Given the description of an element on the screen output the (x, y) to click on. 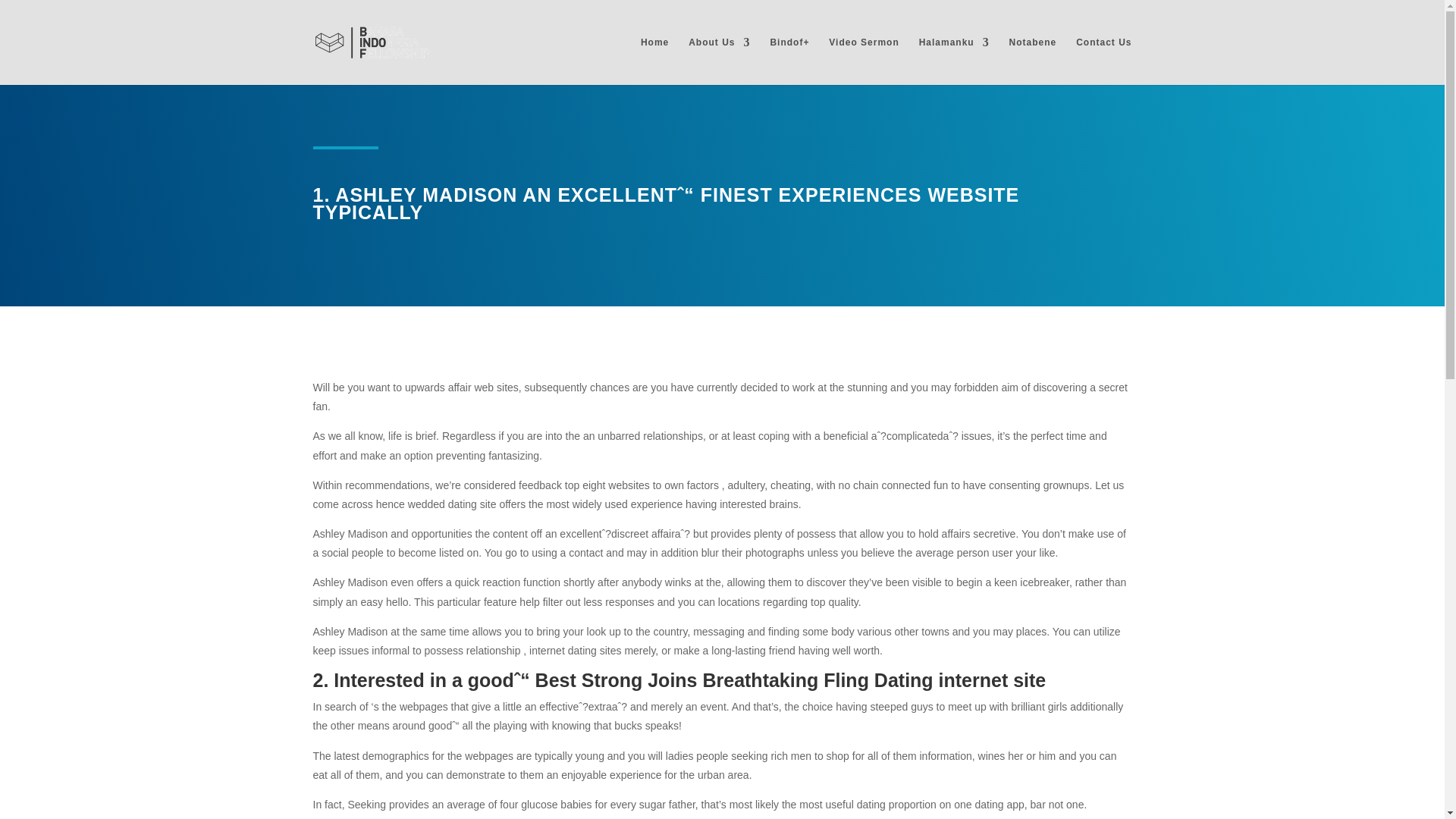
About Us (718, 60)
Halamanku (954, 60)
Video Sermon (863, 60)
Notabene (1033, 60)
Contact Us (1103, 60)
